Given the description of an element on the screen output the (x, y) to click on. 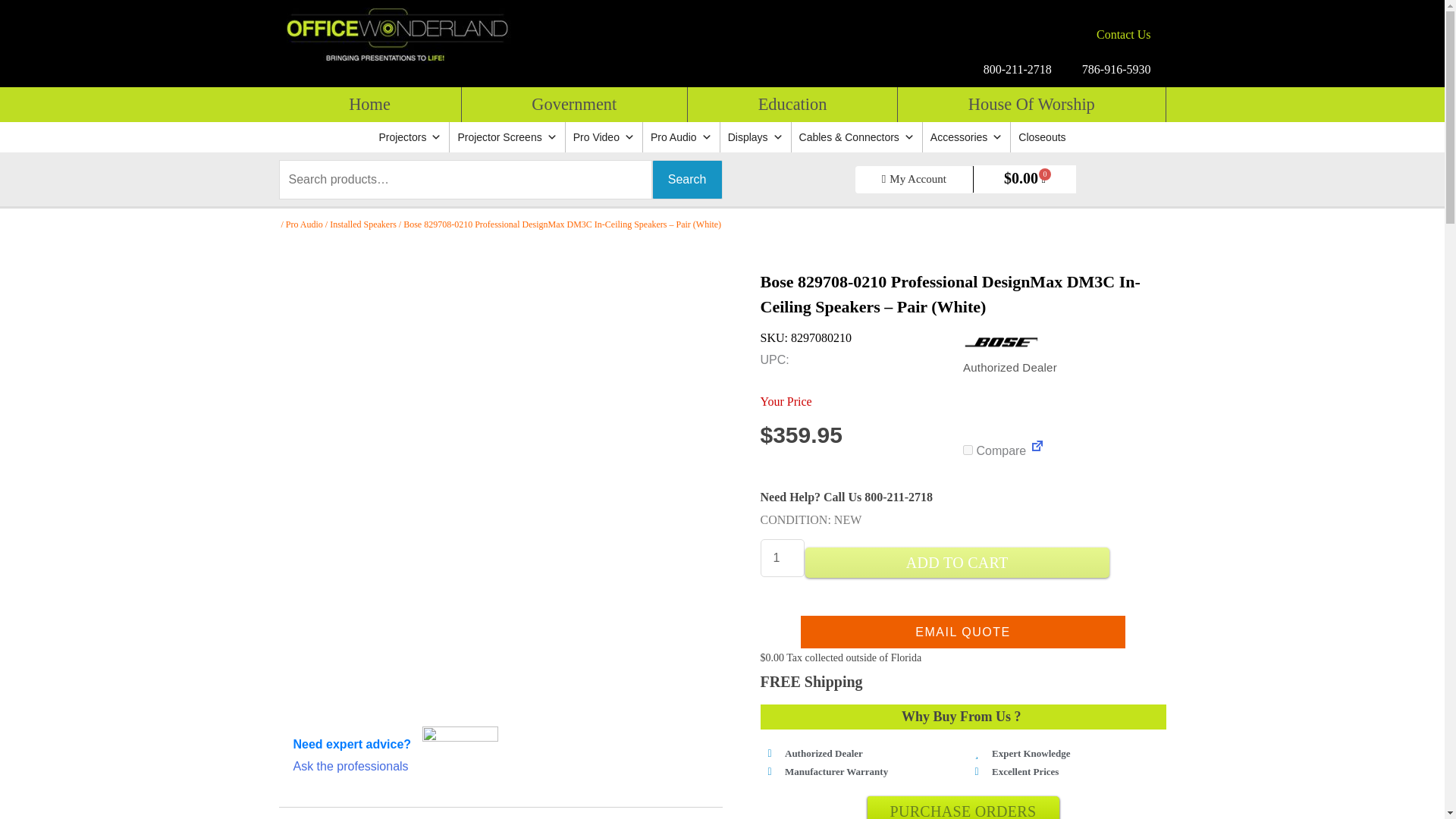
on (967, 450)
Home (370, 104)
Education (791, 104)
House Of Worship (1031, 104)
786-916-5930 (1116, 69)
Government (574, 104)
800-211-2718 (1017, 69)
Contact Us (1123, 34)
1 (781, 557)
Projector Screens (506, 137)
